Given the description of an element on the screen output the (x, y) to click on. 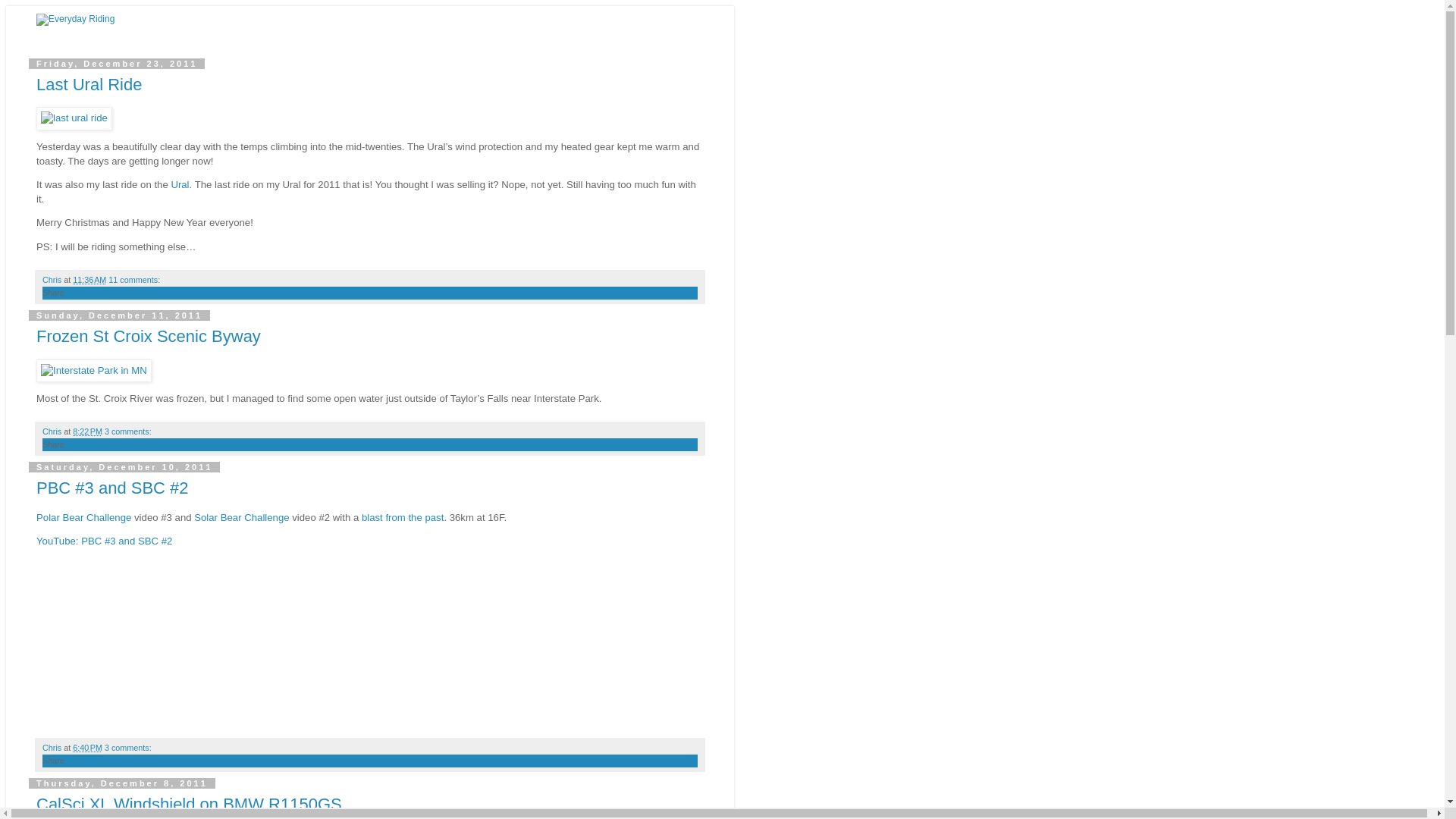
3 comments: (127, 747)
Frozen St Croix Scenic Byway (148, 335)
blast from the past (402, 517)
CalSci XL Windshield on BMW R1150GS (189, 804)
YouTube (55, 541)
Chris (53, 279)
Interstate Park in MN (93, 369)
Polar Bear Challenge (83, 517)
author profile (53, 747)
Solar Bear Challenge (240, 517)
author profile (53, 430)
Chris (53, 430)
Chris (53, 747)
